Given the description of an element on the screen output the (x, y) to click on. 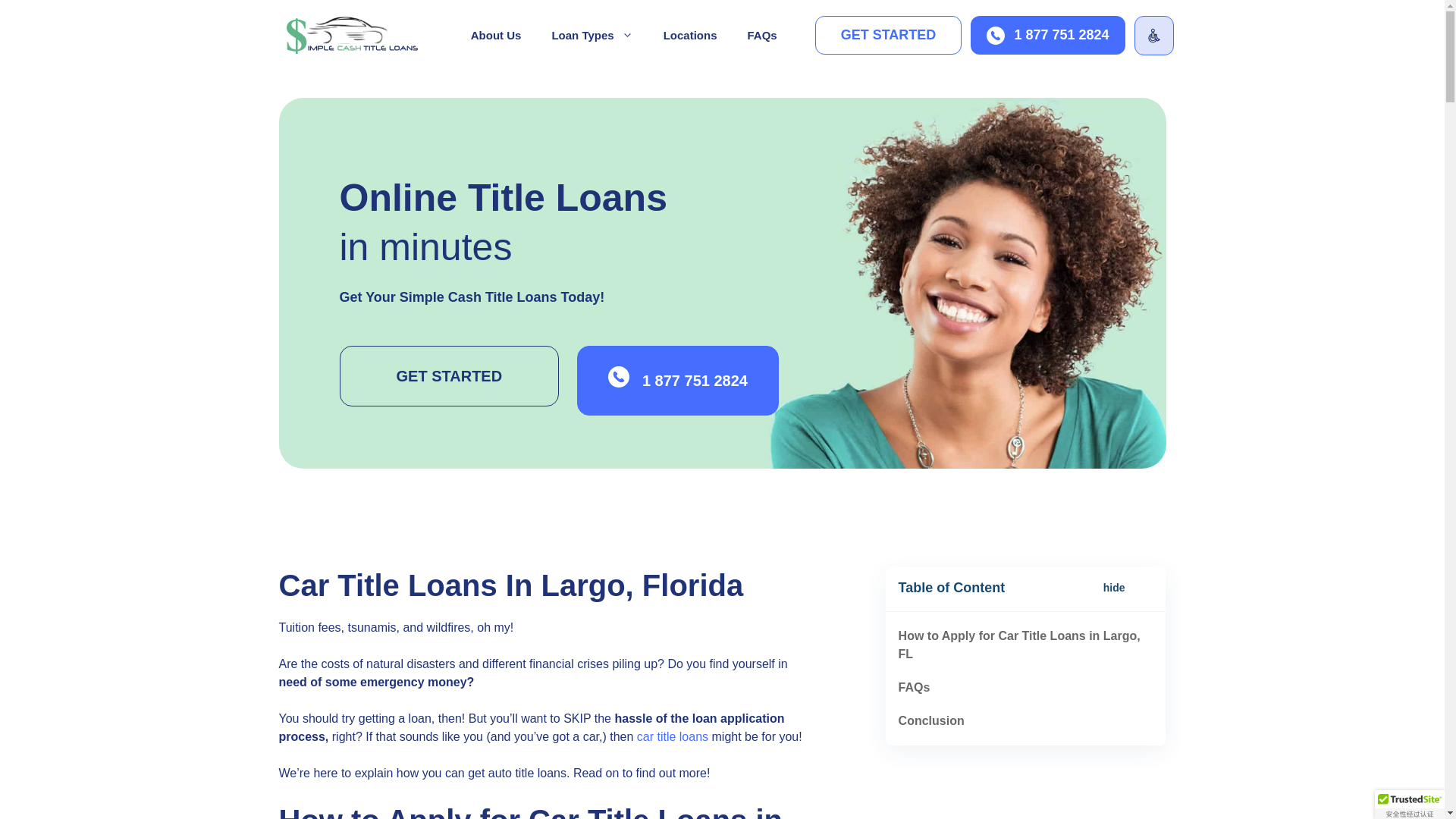
FAQs (914, 686)
How to Apply for Car Title Loans in Largo, FL (1019, 644)
Simple Cash Title Loans (352, 35)
GET STARTED (888, 34)
1 877 751 2824 (1047, 34)
Loan Types (591, 35)
About Us (496, 35)
FAQs (762, 35)
car title loans (672, 736)
GET STARTED (449, 375)
